Given the description of an element on the screen output the (x, y) to click on. 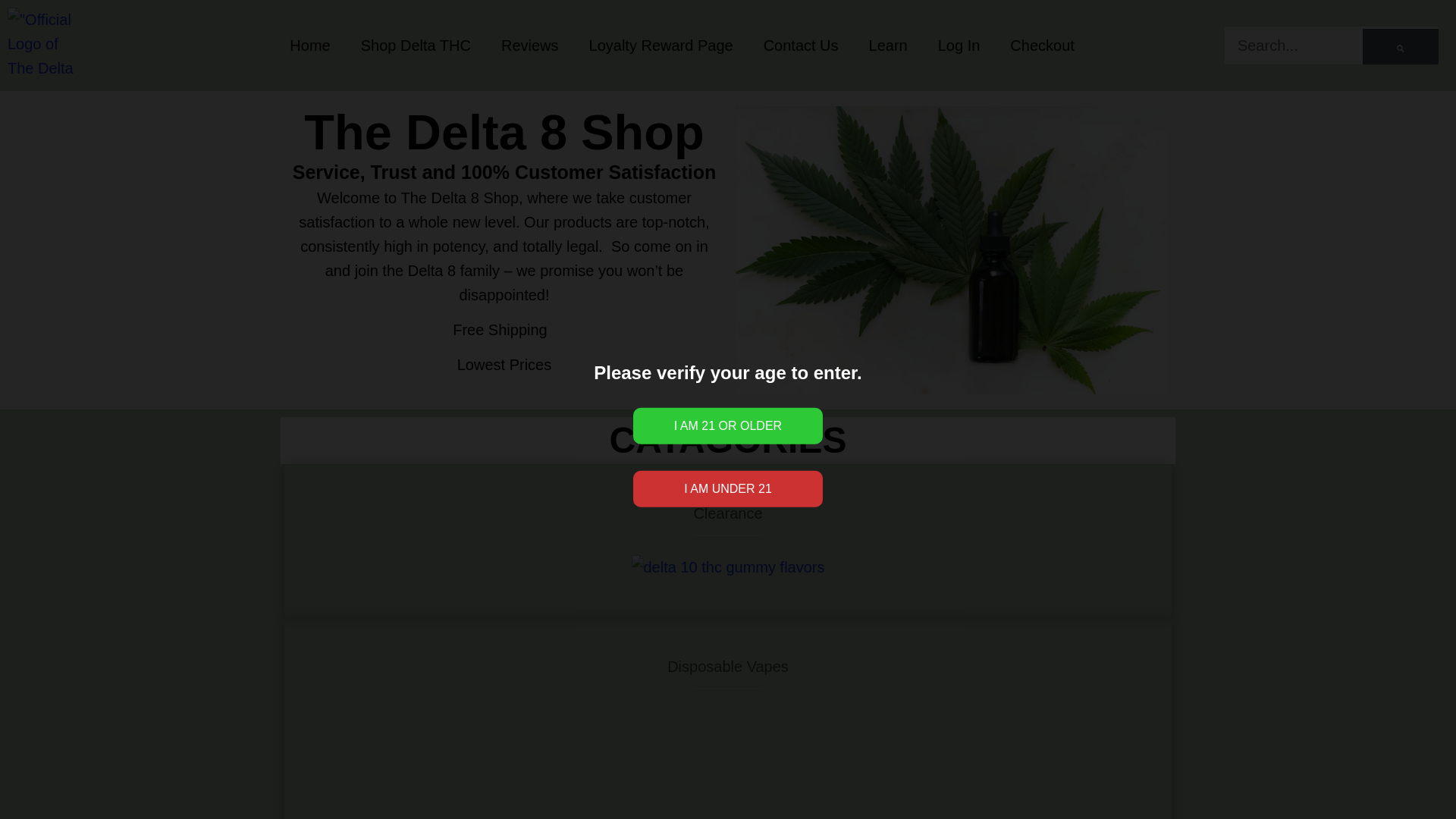
Contact Us (800, 45)
Reviews (529, 45)
Learn (888, 45)
Clearance (727, 513)
I am 21 or older (727, 425)
I am under 21 (727, 488)
Home (310, 45)
Shop Delta THC (416, 45)
Checkout (1041, 45)
Disposable Vapes (727, 666)
